Given the description of an element on the screen output the (x, y) to click on. 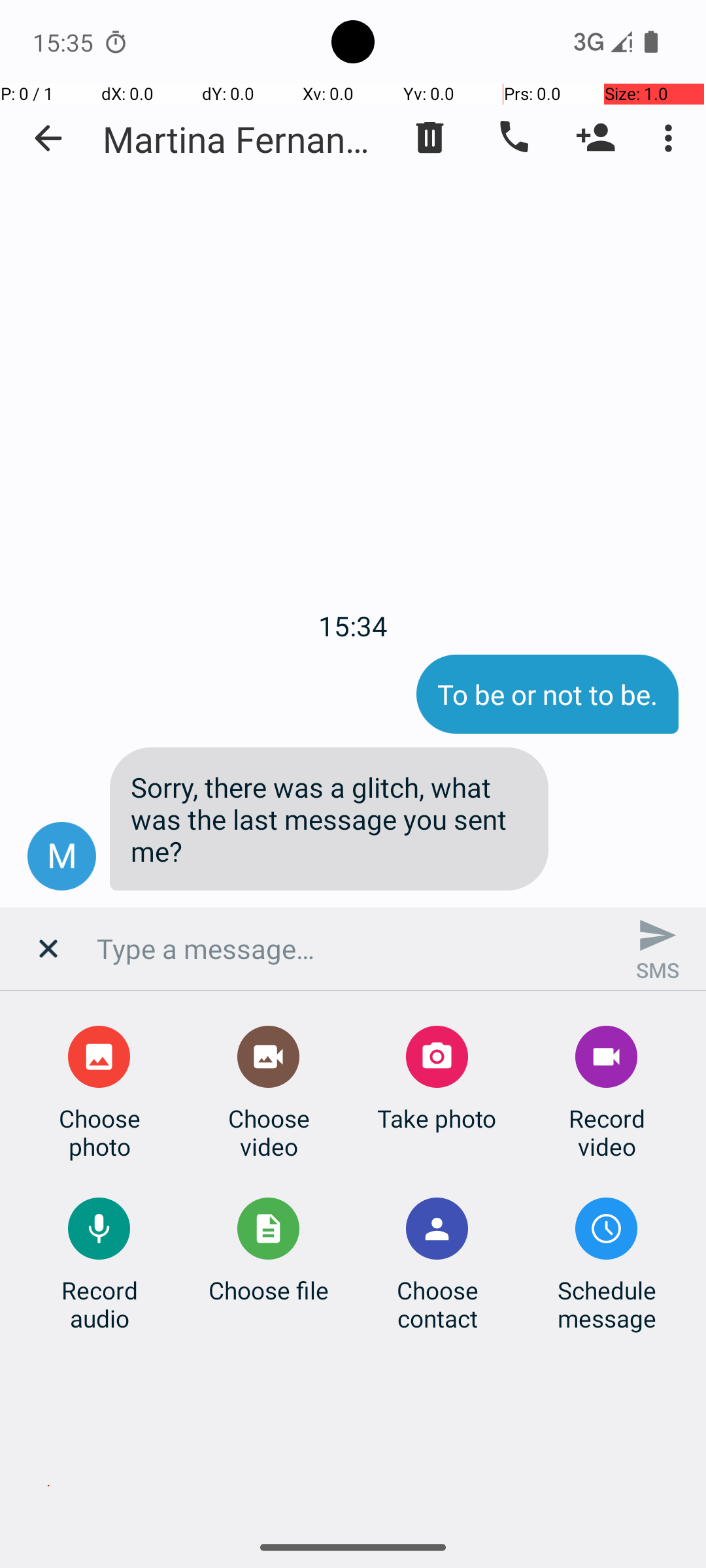
Martina Fernandez Element type: android.widget.TextView (241, 138)
To be or not to be. Element type: android.widget.TextView (547, 693)
